Given the description of an element on the screen output the (x, y) to click on. 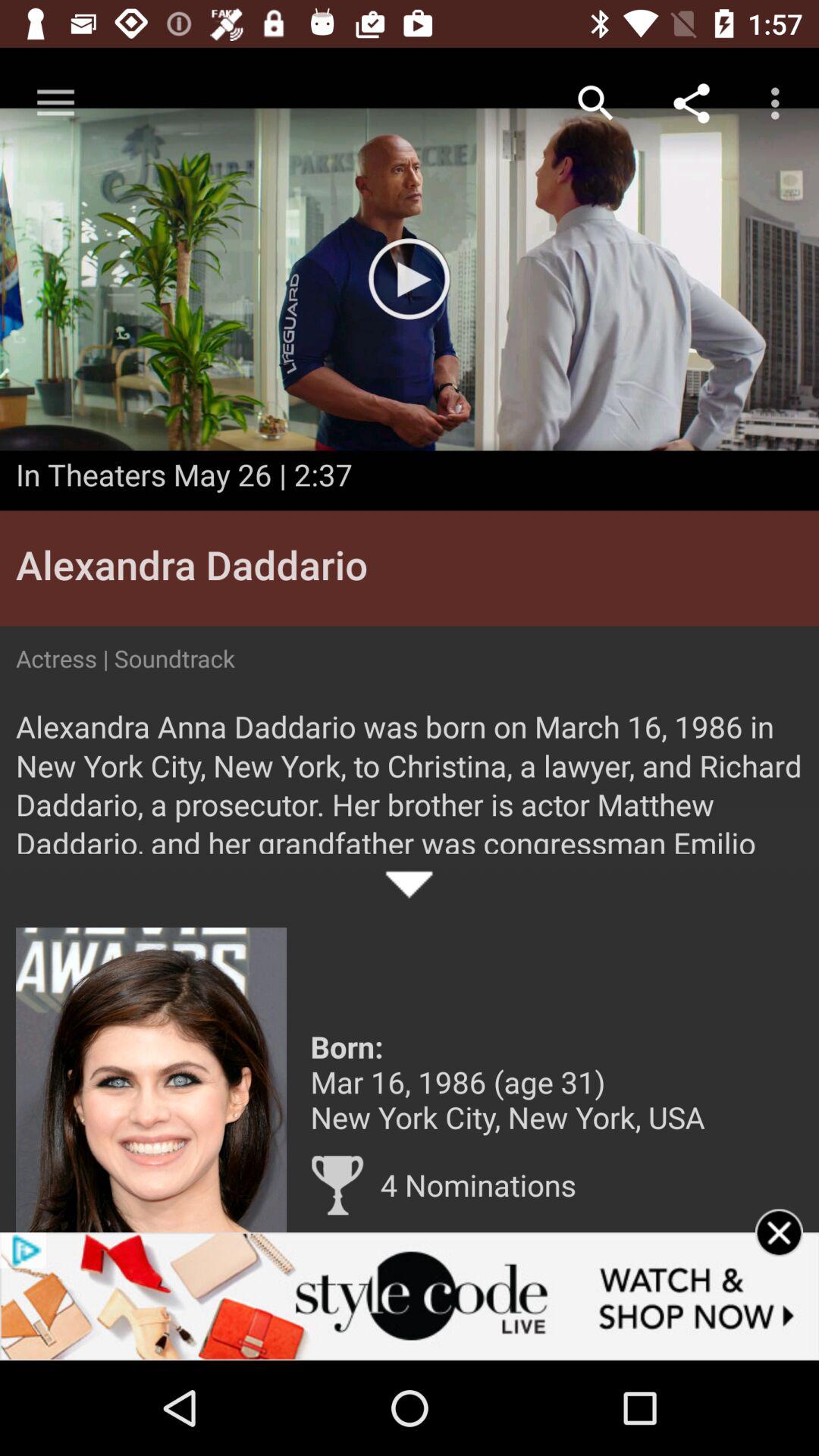
see image (150, 1079)
